Given the description of an element on the screen output the (x, y) to click on. 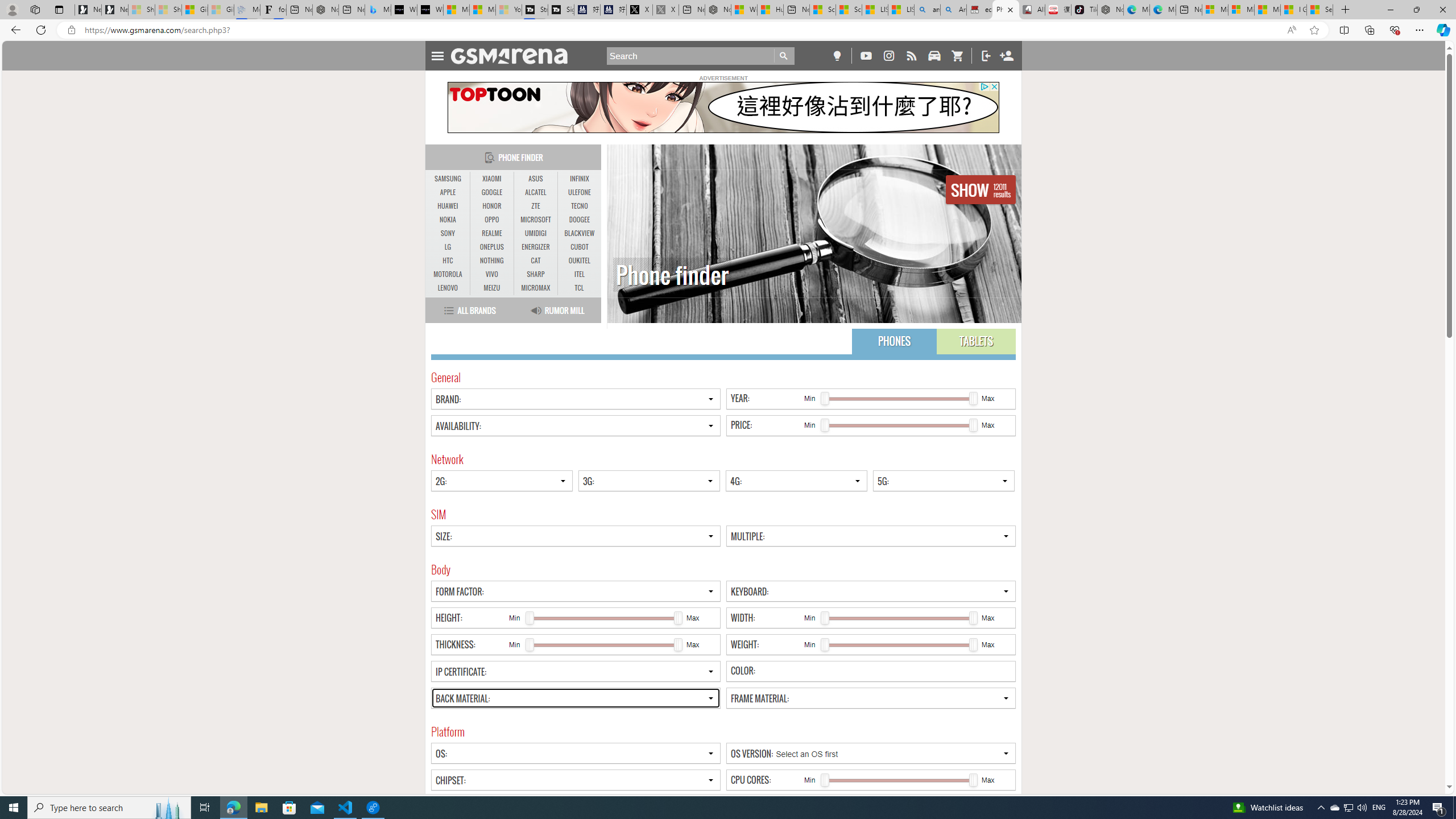
XIAOMI (491, 178)
All Cubot phones (1031, 9)
LG (448, 246)
OUKITEL (579, 260)
APPLE (448, 192)
SHARP (535, 273)
HUAWEI (448, 206)
I Gained 20 Pounds of Muscle in 30 Days! | Watch (1293, 9)
